Given the description of an element on the screen output the (x, y) to click on. 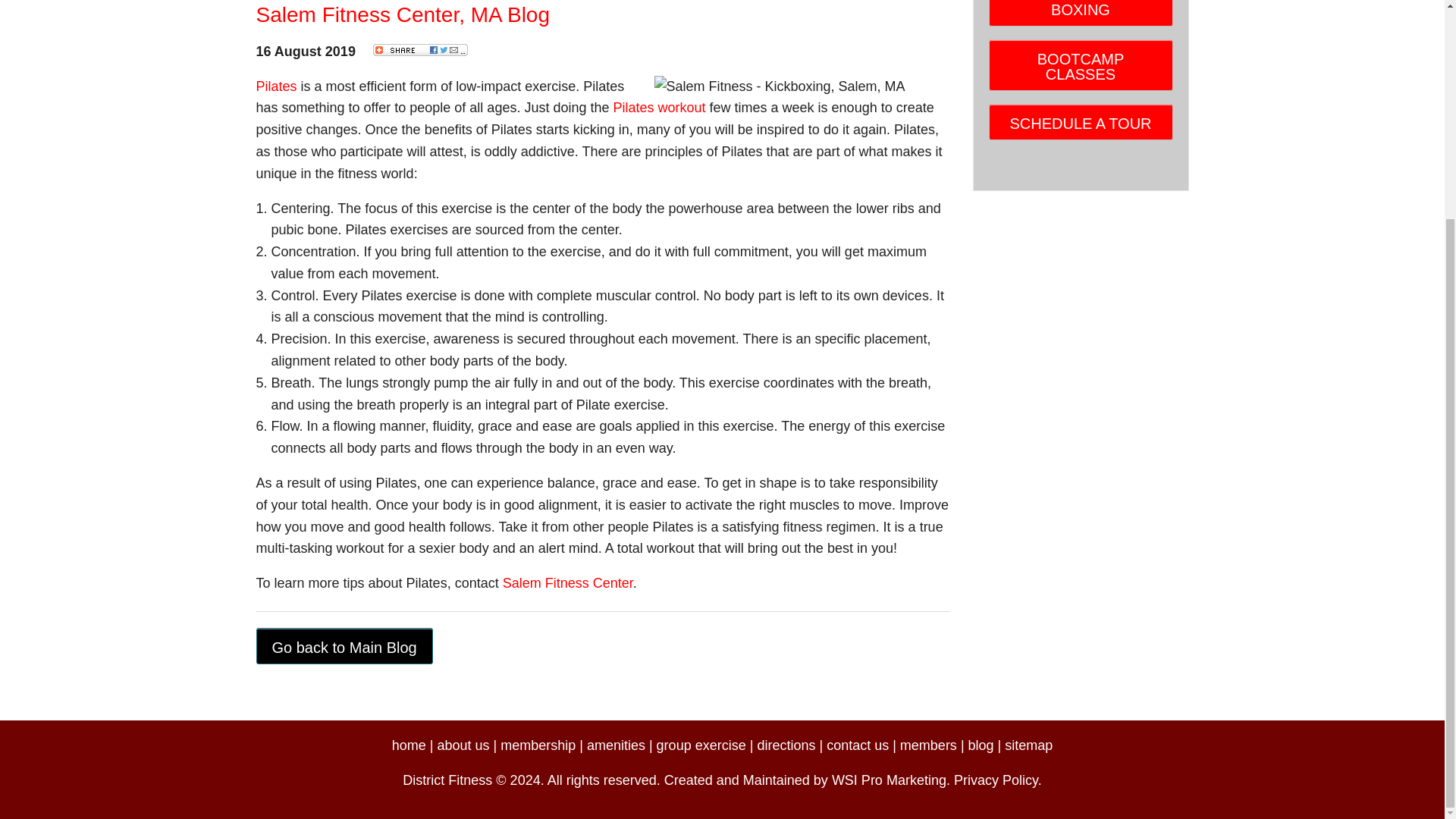
group exercise (700, 744)
membership (537, 744)
Go back to Main Blog (344, 646)
BOOTCAMP CLASSES (1080, 64)
Pilates (276, 86)
Pilates workout (658, 107)
members (927, 744)
SCHEDULE A TOUR (1080, 122)
directions (786, 744)
home (408, 744)
